Given the description of an element on the screen output the (x, y) to click on. 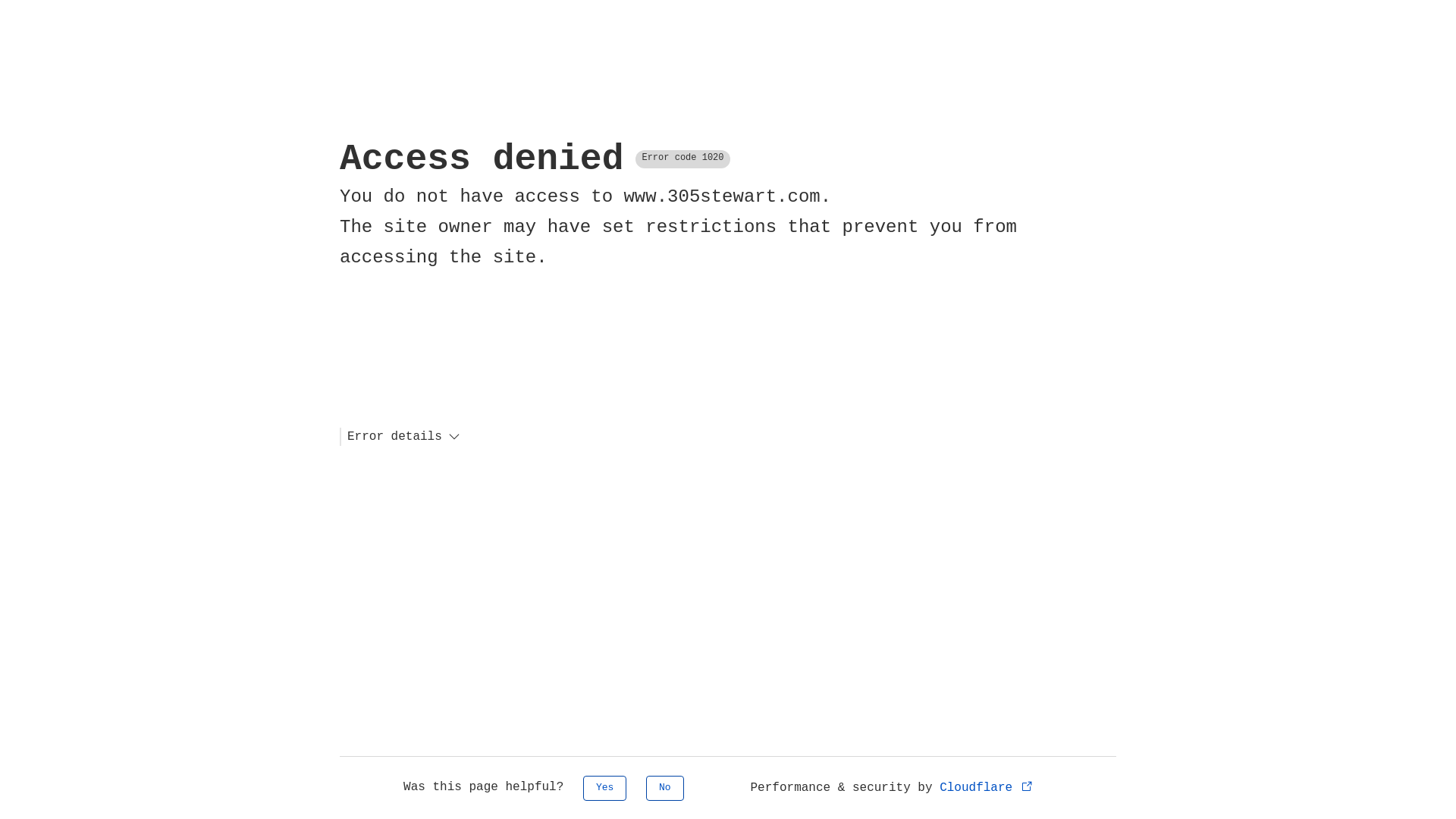
Opens in new tab Element type: hover (1027, 785)
Yes Element type: text (604, 787)
No Element type: text (665, 787)
Cloudflare Element type: text (986, 787)
